Given the description of an element on the screen output the (x, y) to click on. 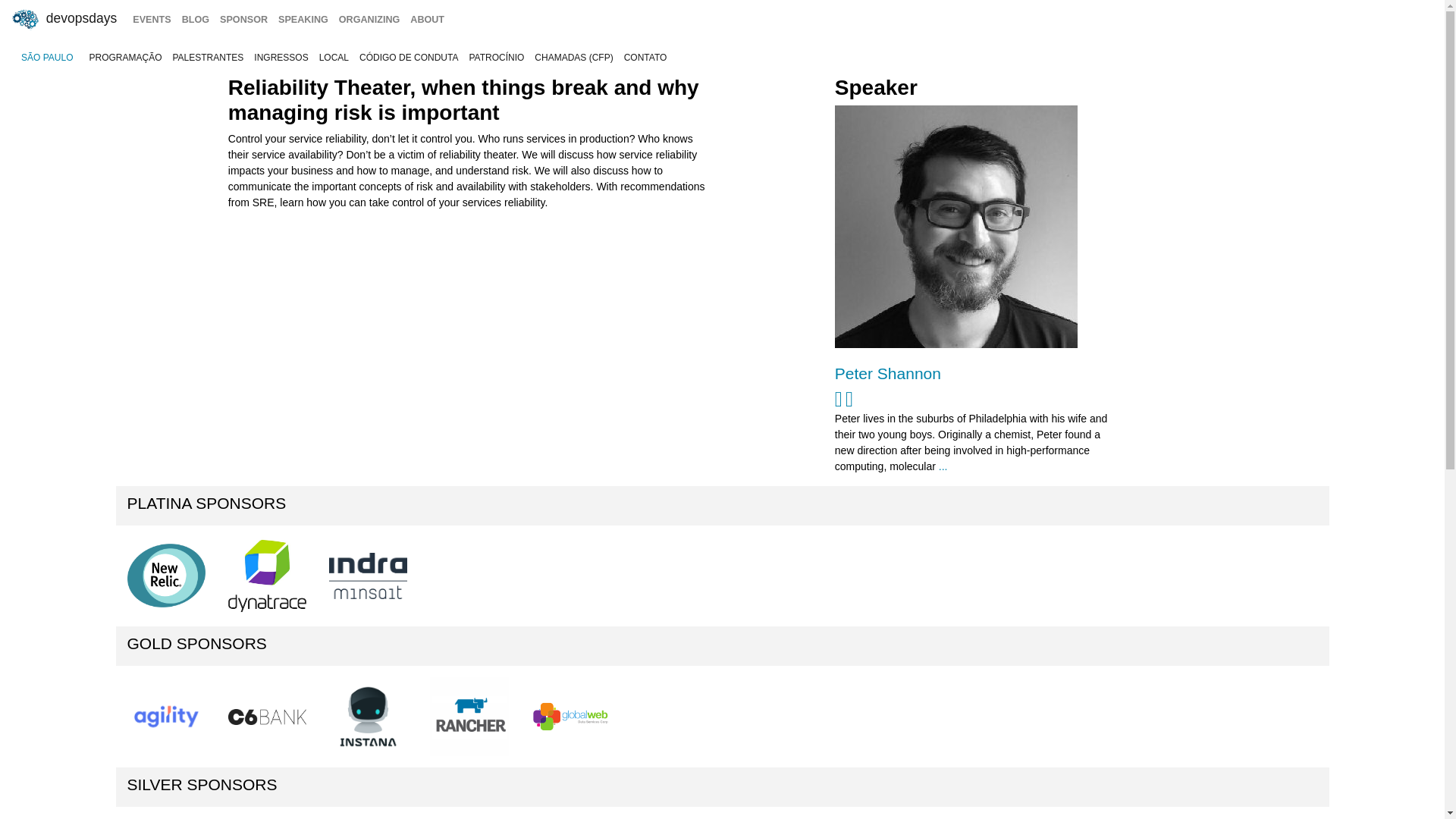
CONTATO (645, 57)
BLOG (195, 19)
globalweb (570, 716)
SPONSOR (243, 19)
rancher (468, 716)
New Relic (166, 575)
c6bank (266, 716)
Dynatrace (266, 576)
indracompany (368, 575)
INGRESSOS (280, 57)
PALESTRANTES (207, 57)
SPEAKING (303, 19)
LOCAL (333, 57)
Instana (368, 716)
